Given the description of an element on the screen output the (x, y) to click on. 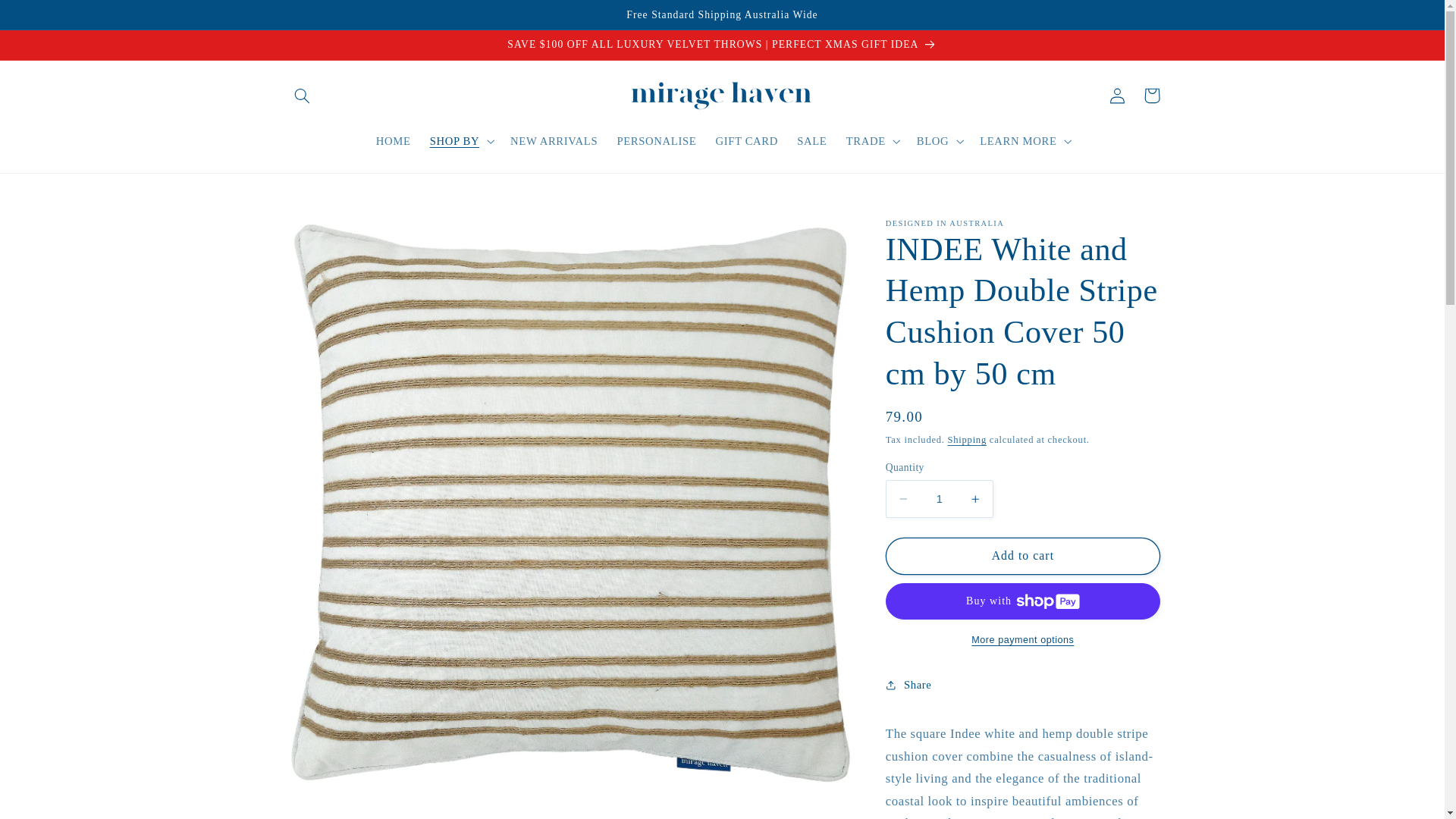
Add to cart Element type: text (1022, 555)
SALE Element type: text (811, 140)
GIFT CARD Element type: text (746, 140)
PERSONALISE Element type: text (656, 140)
Shipping Element type: text (966, 439)
More payment options Element type: text (1022, 640)
HOME Element type: text (393, 140)
Log in Element type: text (1116, 95)
Cart Element type: text (1151, 95)
NEW ARRIVALS Element type: text (554, 140)
Skip to product information Element type: text (331, 236)
